Given the description of an element on the screen output the (x, y) to click on. 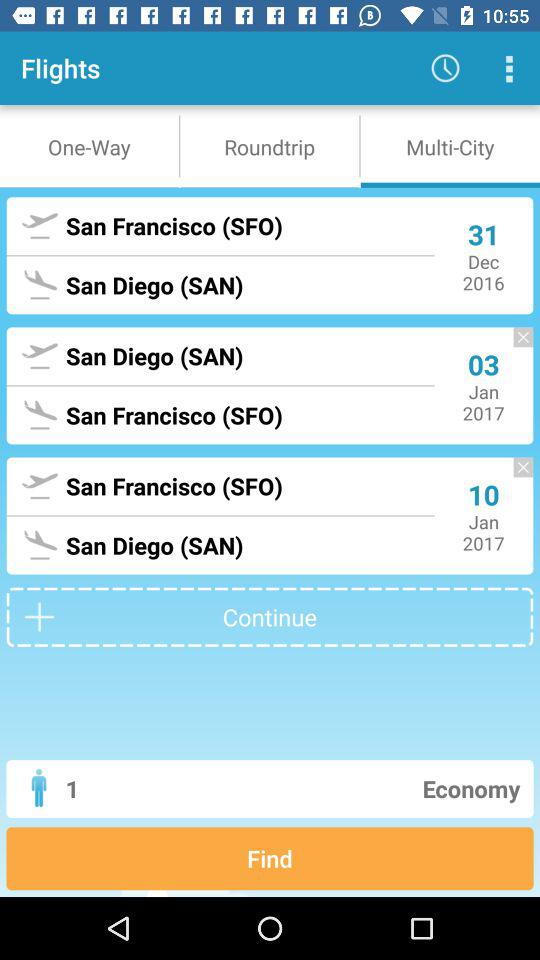
tap the 31
dec
2016 (483, 255)
